Given the description of an element on the screen output the (x, y) to click on. 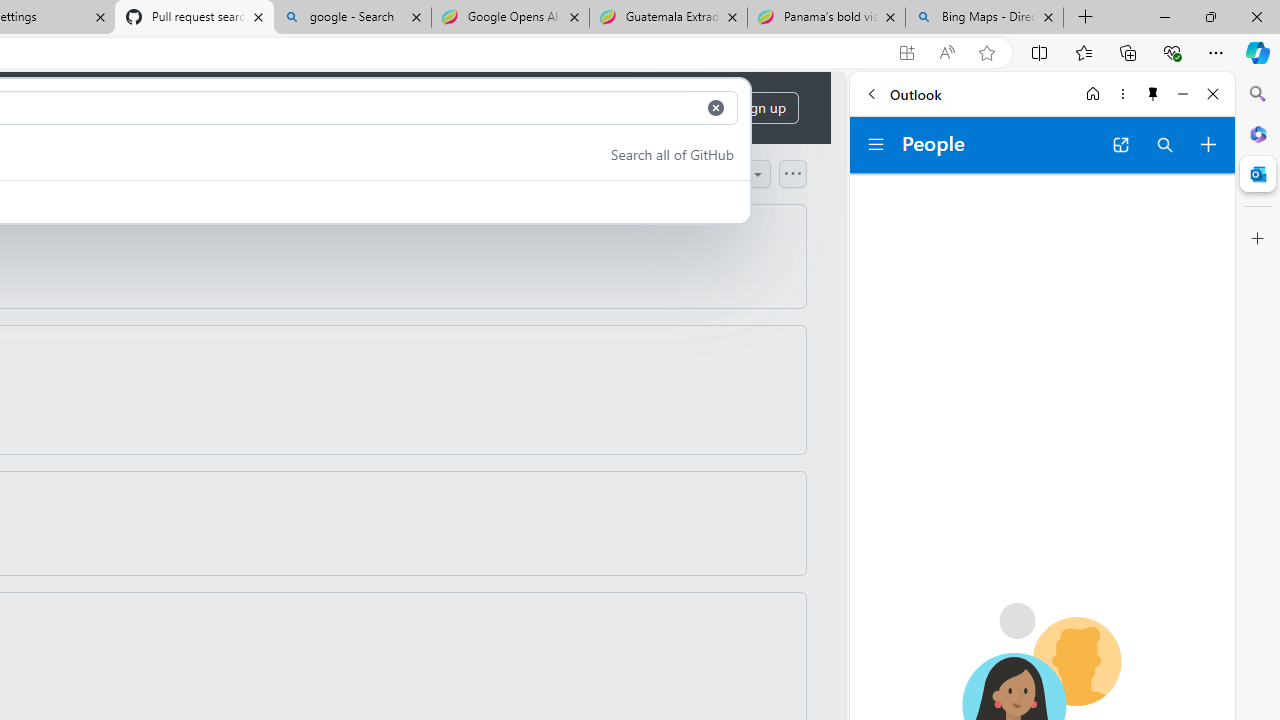
Open column options (792, 173)
